Given the description of an element on the screen output the (x, y) to click on. 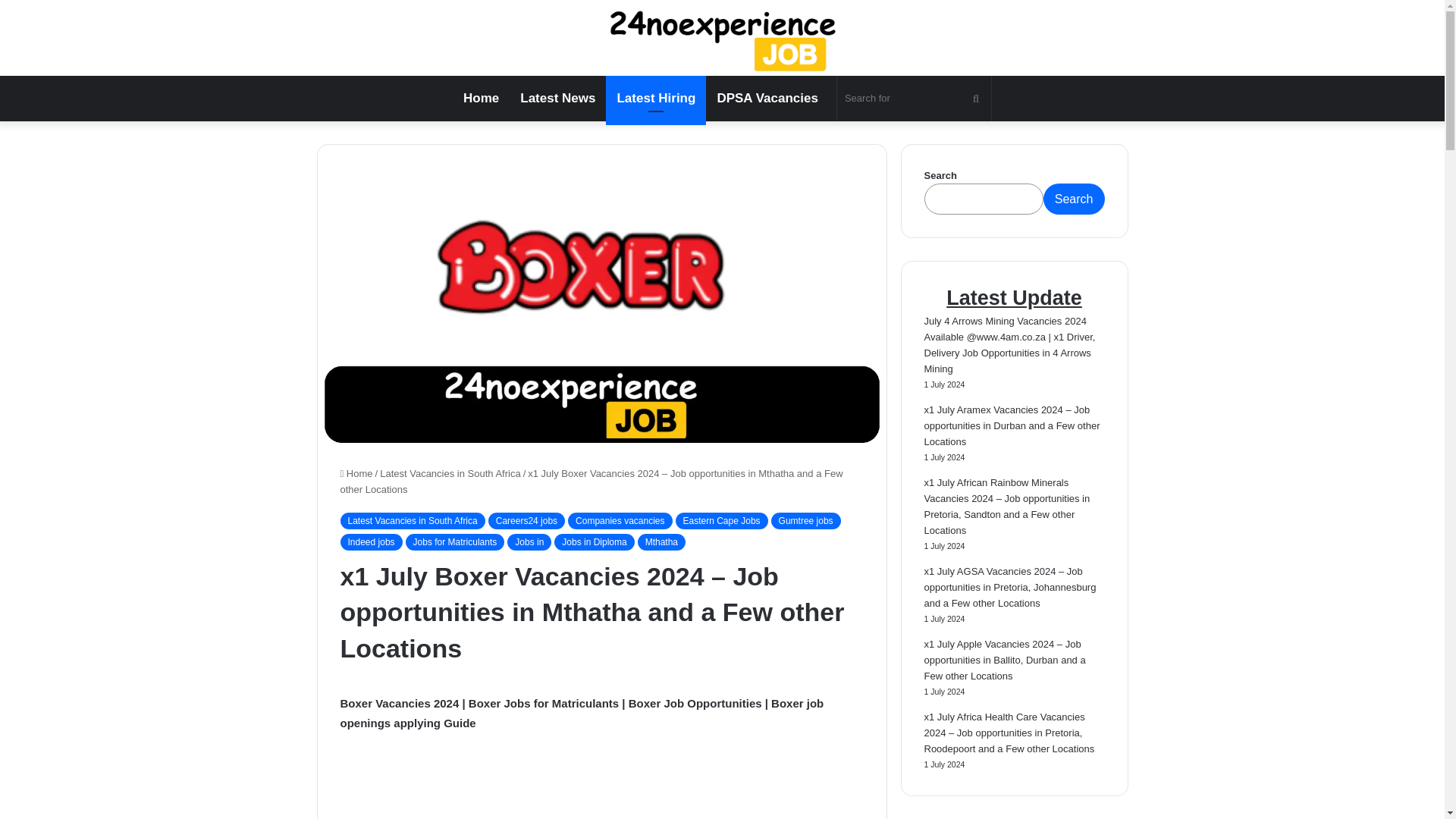
DPSA Vacancies (767, 98)
Eastern Cape Jobs (721, 520)
Indeed jobs (370, 541)
Home (480, 98)
24noexperiencejobs (721, 38)
Jobs for Matriculants (455, 541)
Careers24 jobs (525, 520)
Latest Vacancies in South Africa (411, 520)
Jobs in Diploma (593, 541)
Mthatha (661, 541)
Home (355, 472)
Latest Vacancies in South Africa (449, 472)
Latest Hiring (655, 98)
Jobs in (528, 541)
Gumtree jobs (806, 520)
